Given the description of an element on the screen output the (x, y) to click on. 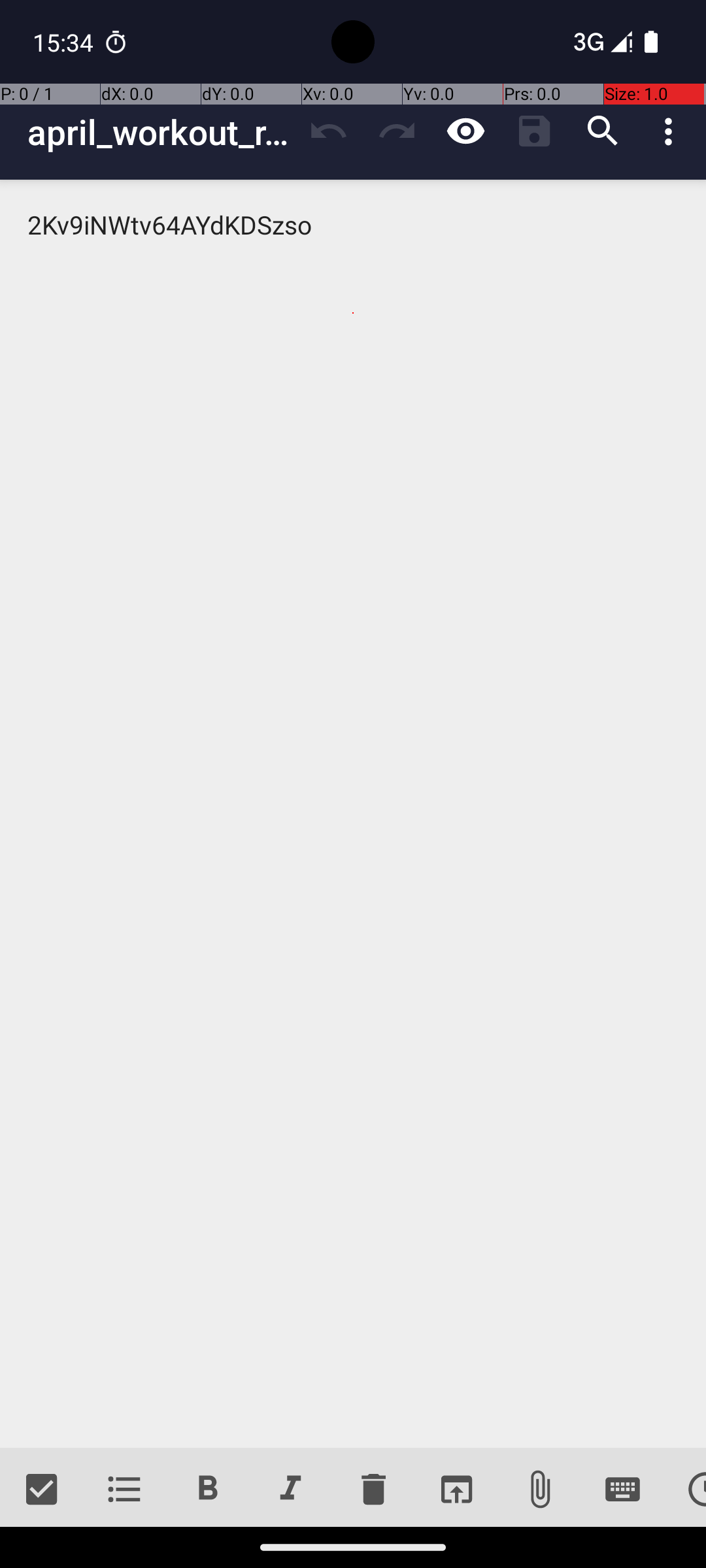
april_workout_routine_ucuU Element type: android.widget.TextView (160, 131)
2Kv9iNWtv64AYdKDSzso
 Element type: android.widget.EditText (353, 813)
